Given the description of an element on the screen output the (x, y) to click on. 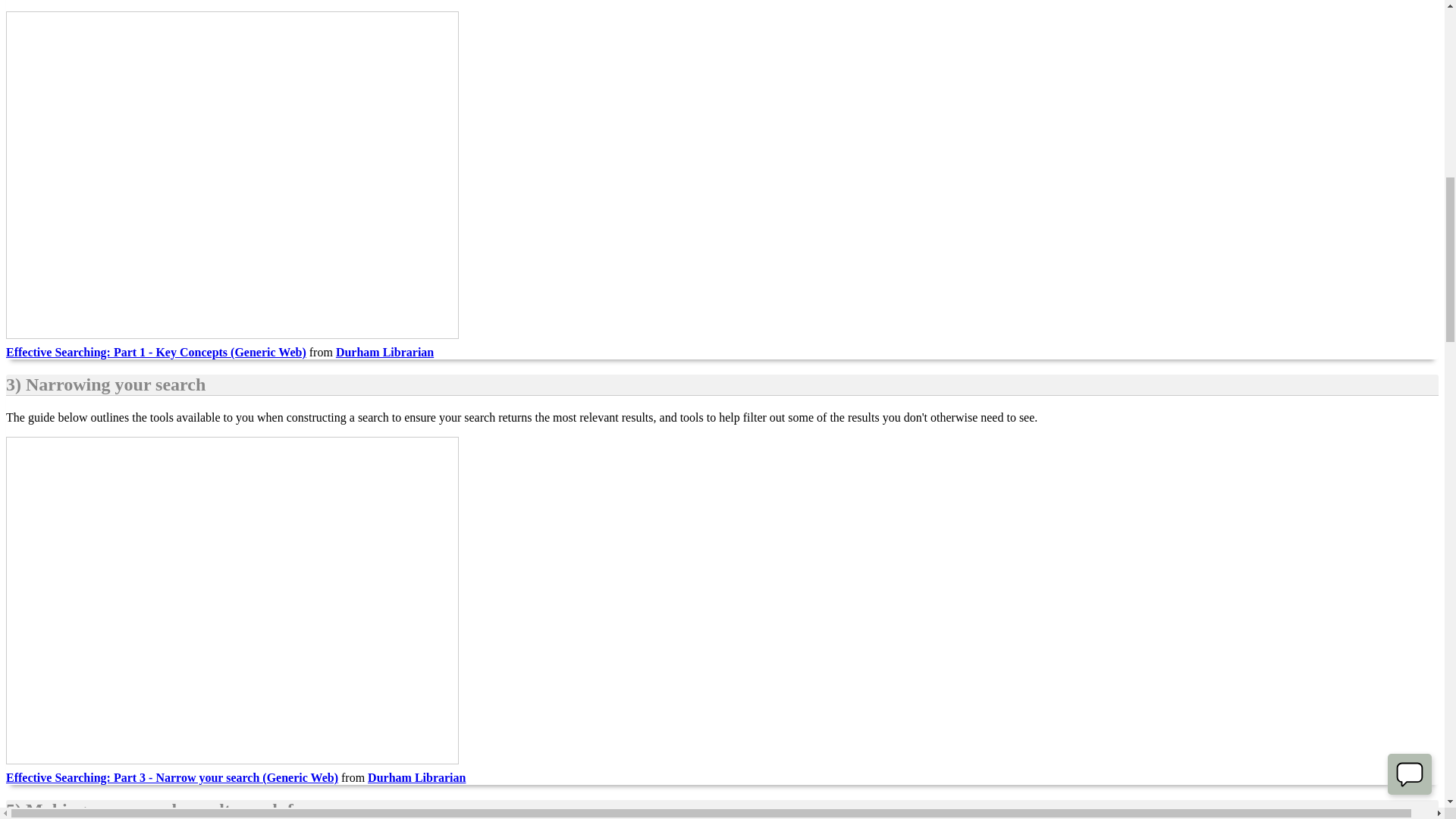
Durham Librarian (384, 351)
Durham Librarian (416, 777)
